Given the description of an element on the screen output the (x, y) to click on. 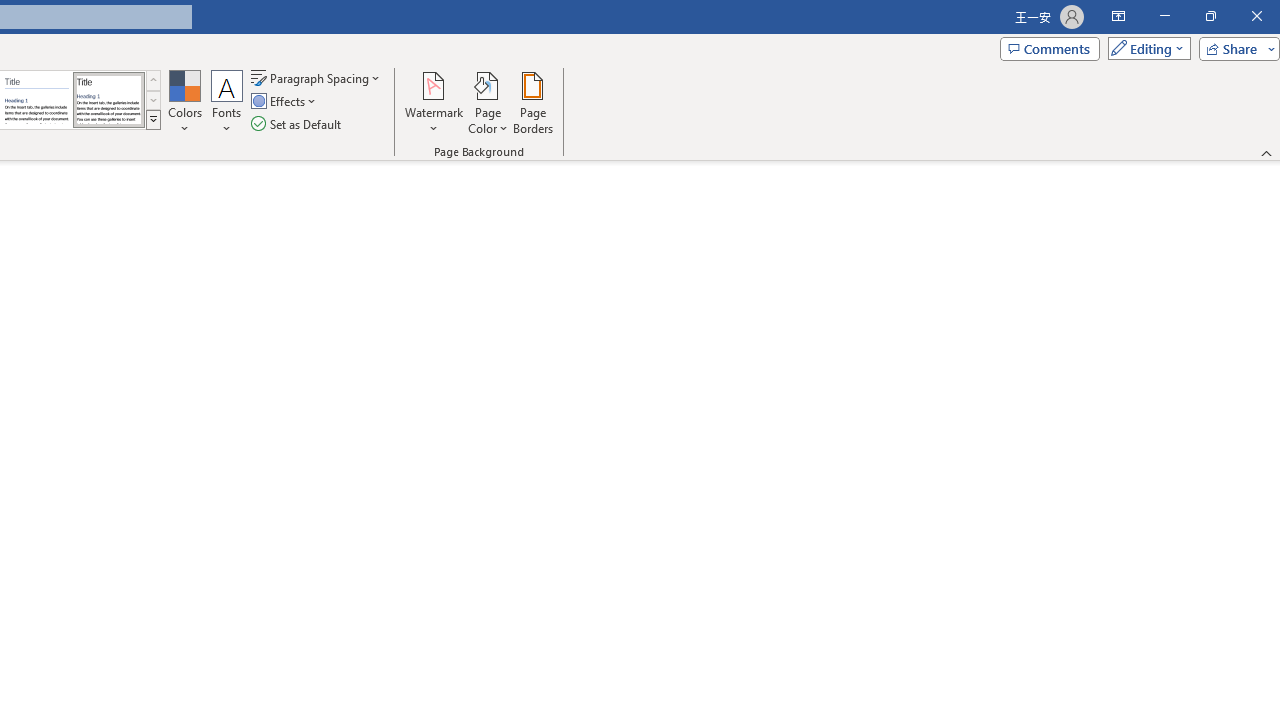
Effects (285, 101)
Page Borders... (532, 102)
Paragraph Spacing (317, 78)
